Given the description of an element on the screen output the (x, y) to click on. 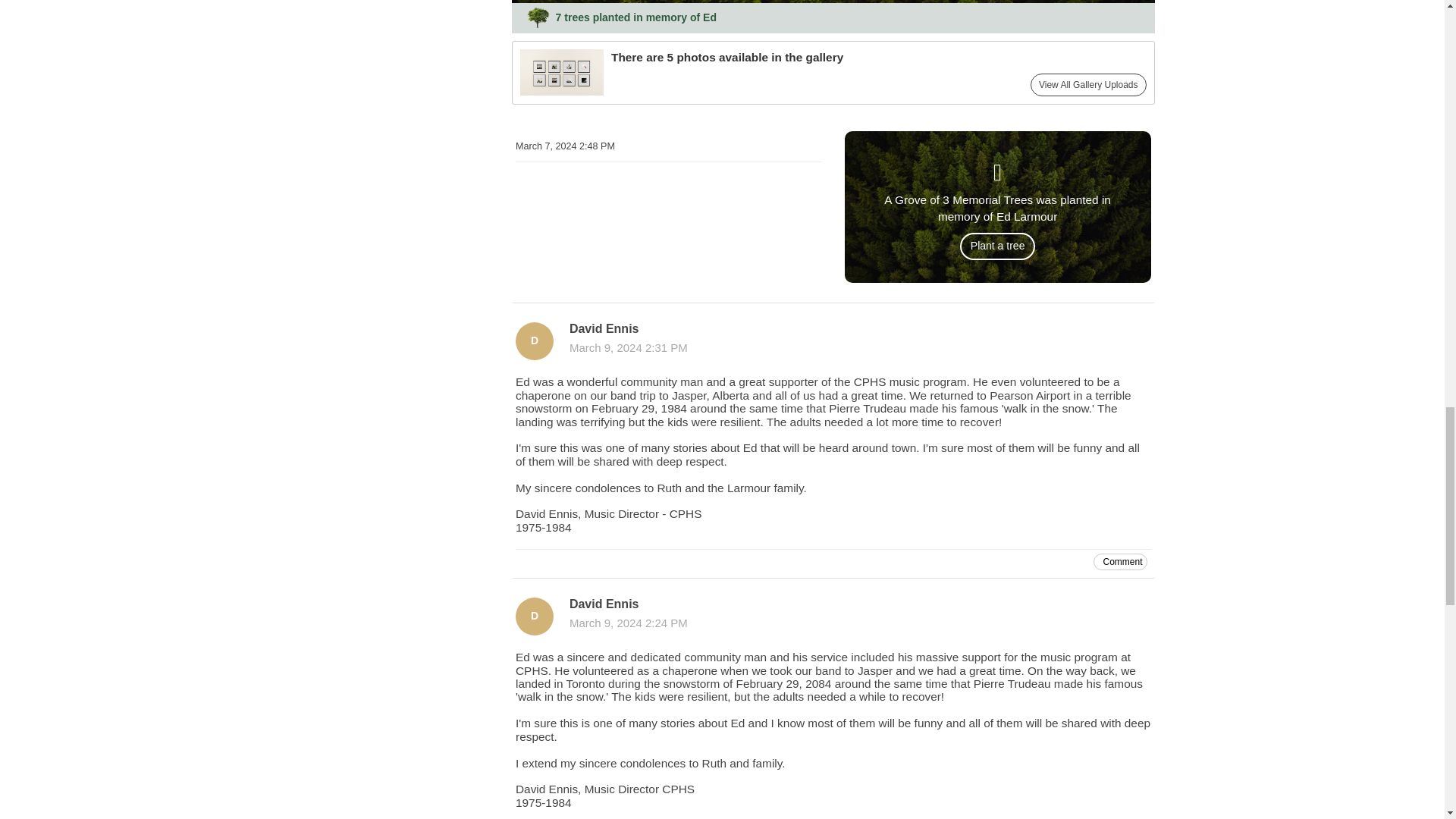
View All Gallery Uploads (1088, 84)
David Ennis (534, 616)
David Ennis (534, 341)
Plant a tree (997, 241)
Plant a tree (997, 246)
  Comment (1120, 561)
